Given the description of an element on the screen output the (x, y) to click on. 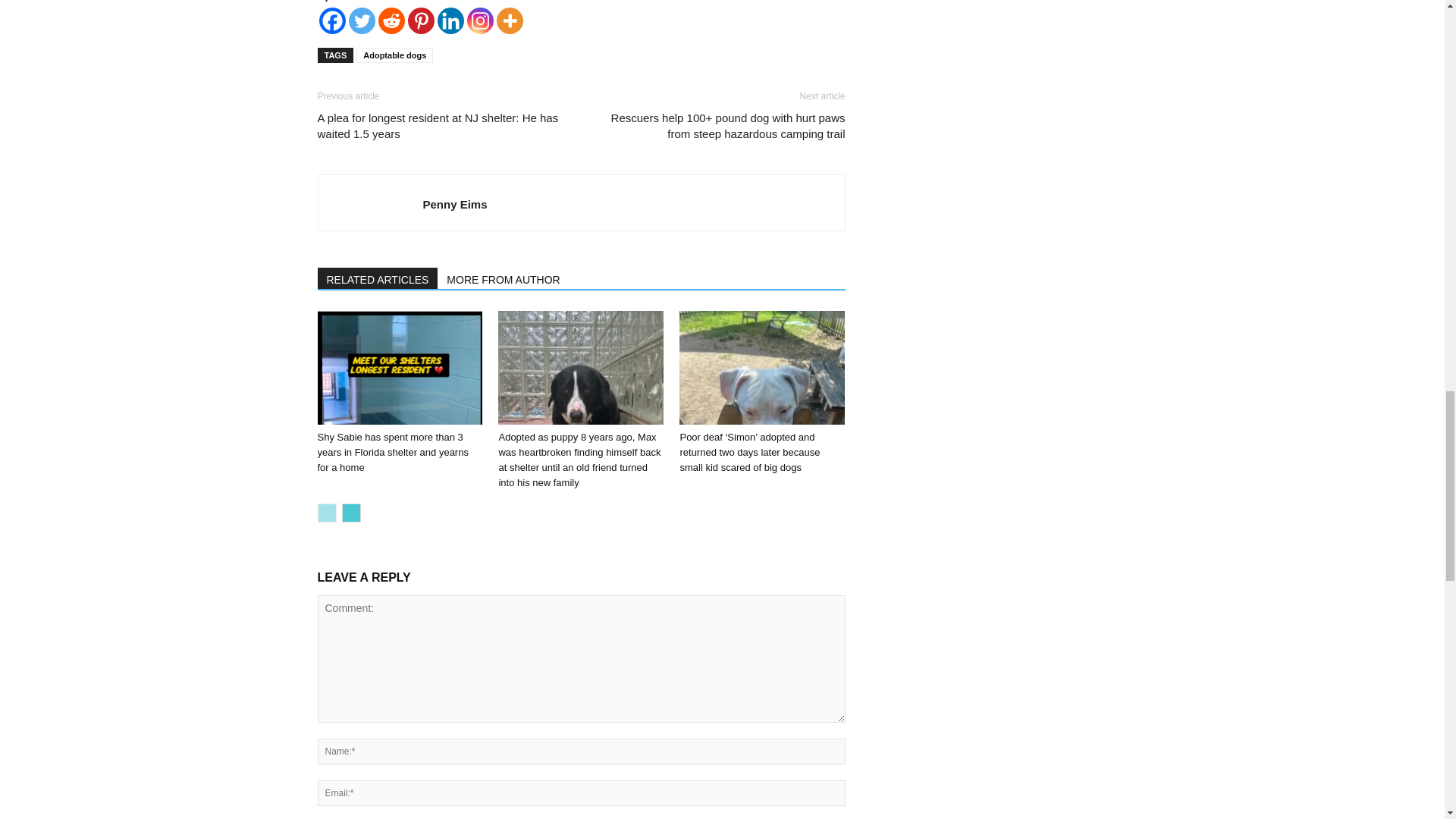
Linkedin (449, 20)
Pinterest (420, 20)
Twitter (362, 20)
Adoptable dogs (394, 55)
Penny Eims (455, 204)
Facebook (331, 20)
Reddit (390, 20)
